Given the description of an element on the screen output the (x, y) to click on. 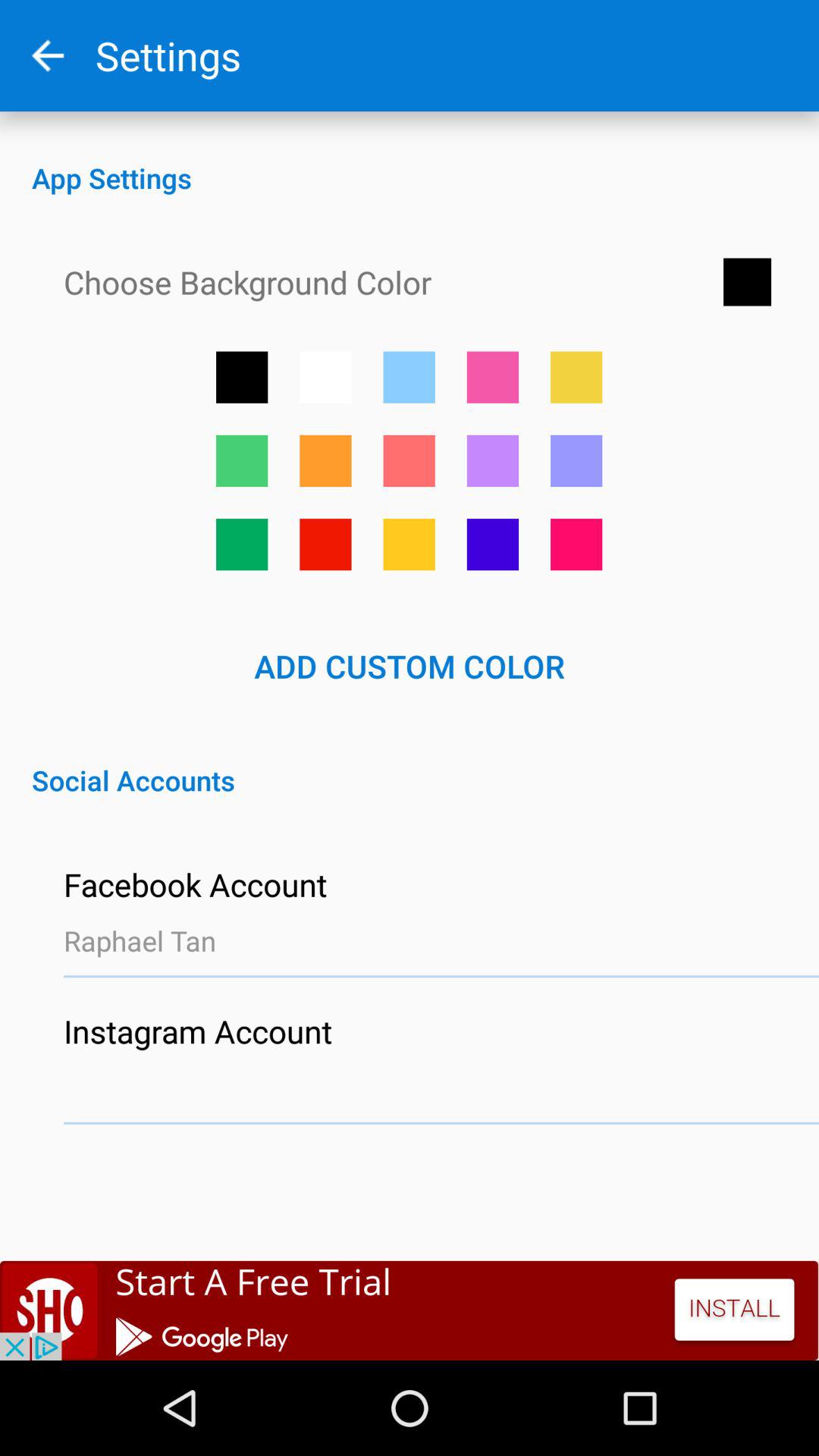
go to button (576, 544)
